Given the description of an element on the screen output the (x, y) to click on. 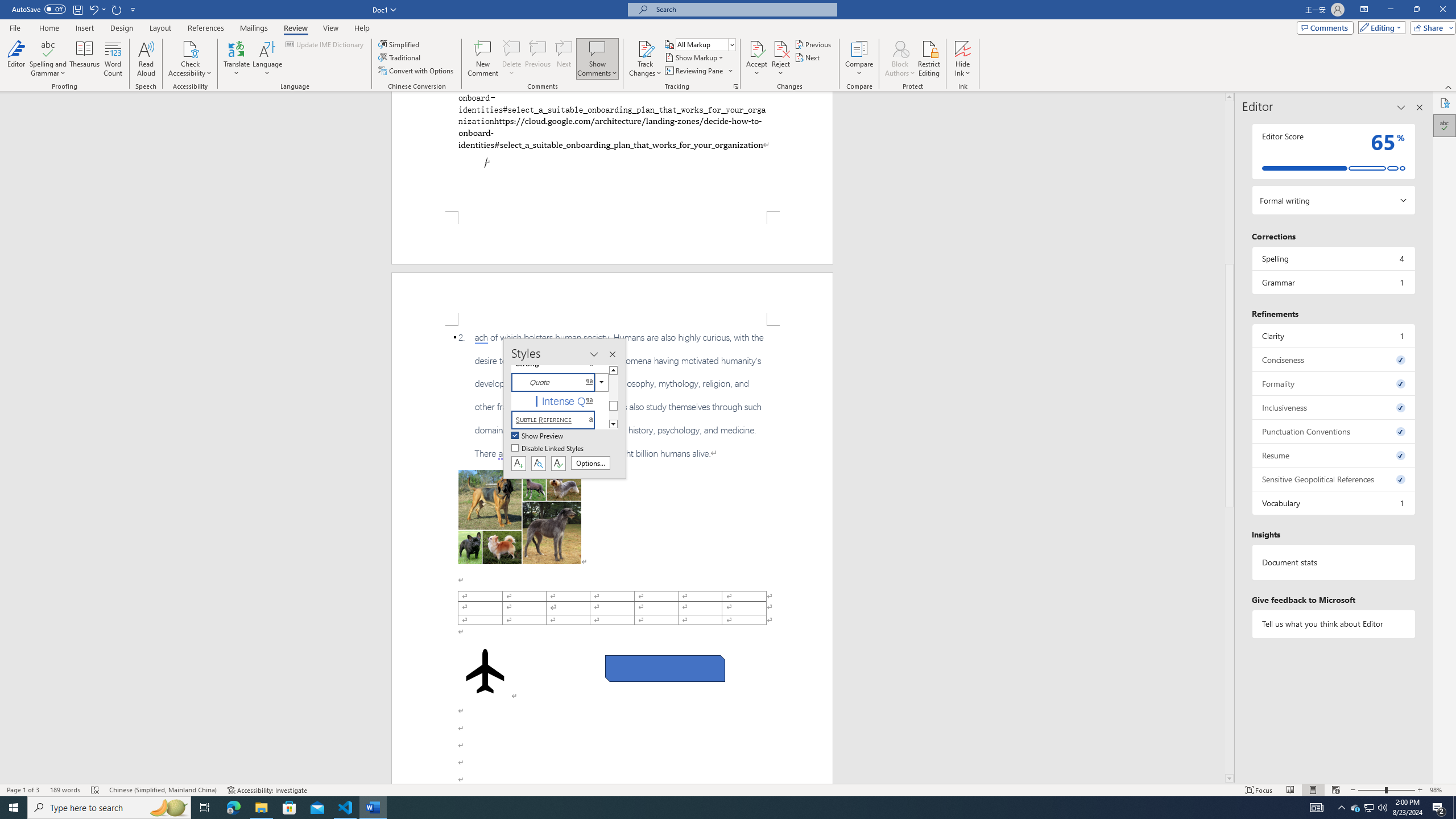
Spelling and Grammar (48, 48)
Header -Section 1- (611, 298)
Translate (236, 58)
Conciseness, 0 issues. Press space or enter to review items. (1333, 359)
Reviewing Pane (694, 69)
Page 2 content (611, 554)
Convert with Options... (417, 69)
Compare (859, 58)
Language (267, 58)
Class: NetUIScrollBar (1229, 437)
